Given the description of an element on the screen output the (x, y) to click on. 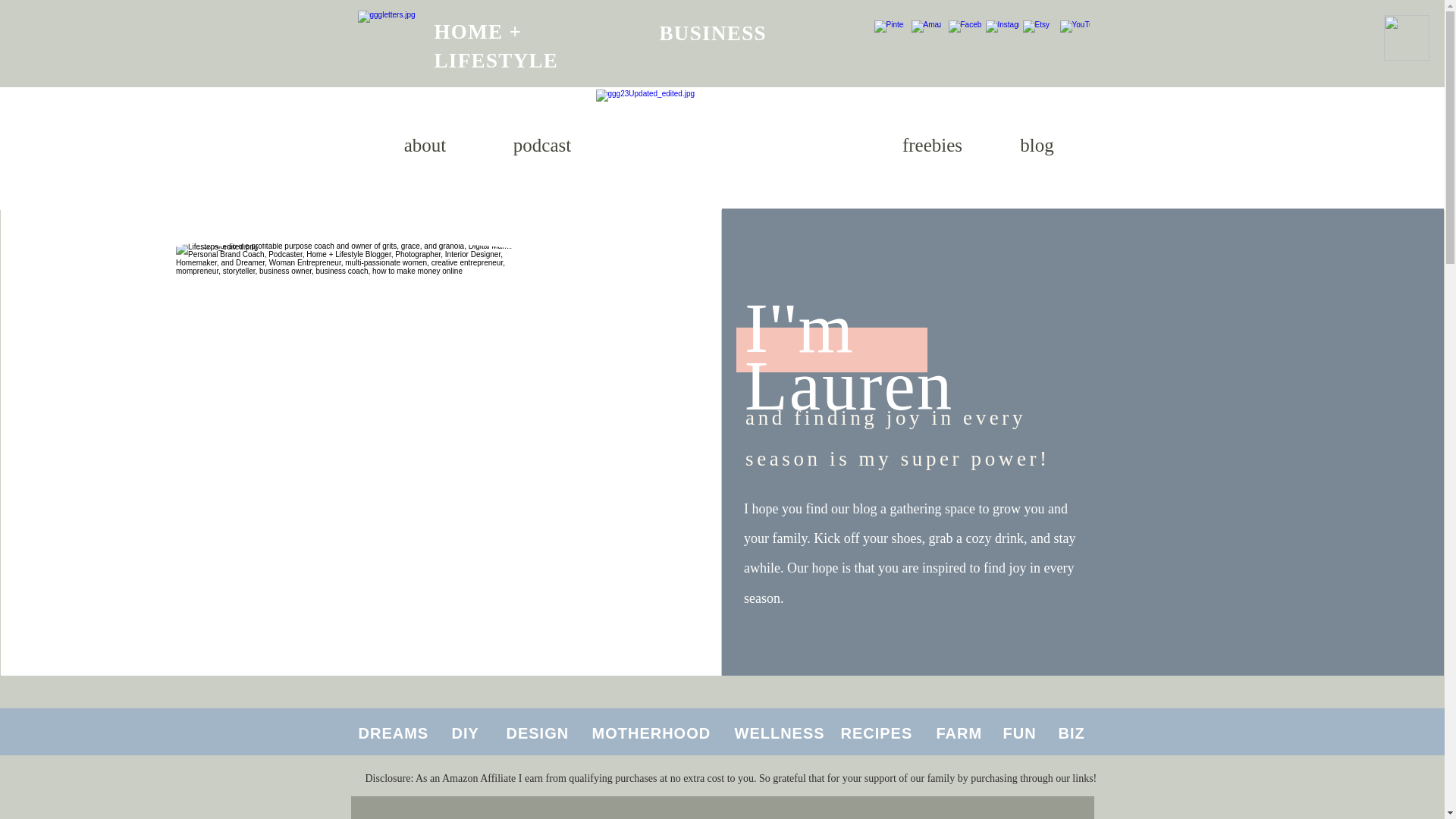
DESIGN (537, 733)
MOTHERHOOD (650, 733)
BIZ (1071, 733)
DREAMS (393, 733)
about (425, 145)
RECIPES (876, 733)
WELLNESS (778, 733)
freebies (932, 145)
blog (1036, 145)
FUN (1019, 733)
